Given the description of an element on the screen output the (x, y) to click on. 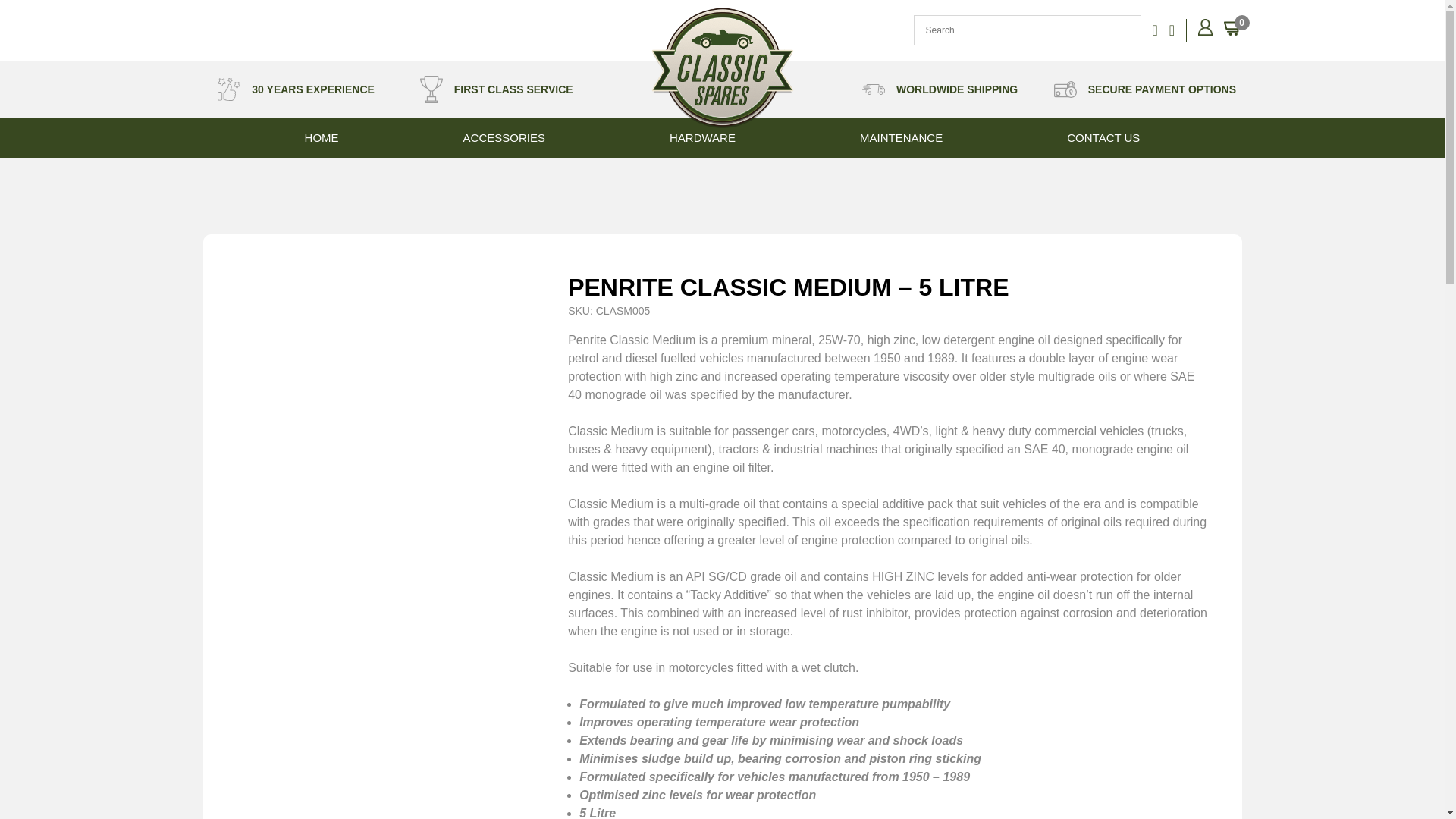
HARDWARE (702, 137)
MAINTENANCE (901, 137)
CONTACT US (1103, 137)
ACCESSORIES (503, 137)
